Given the description of an element on the screen output the (x, y) to click on. 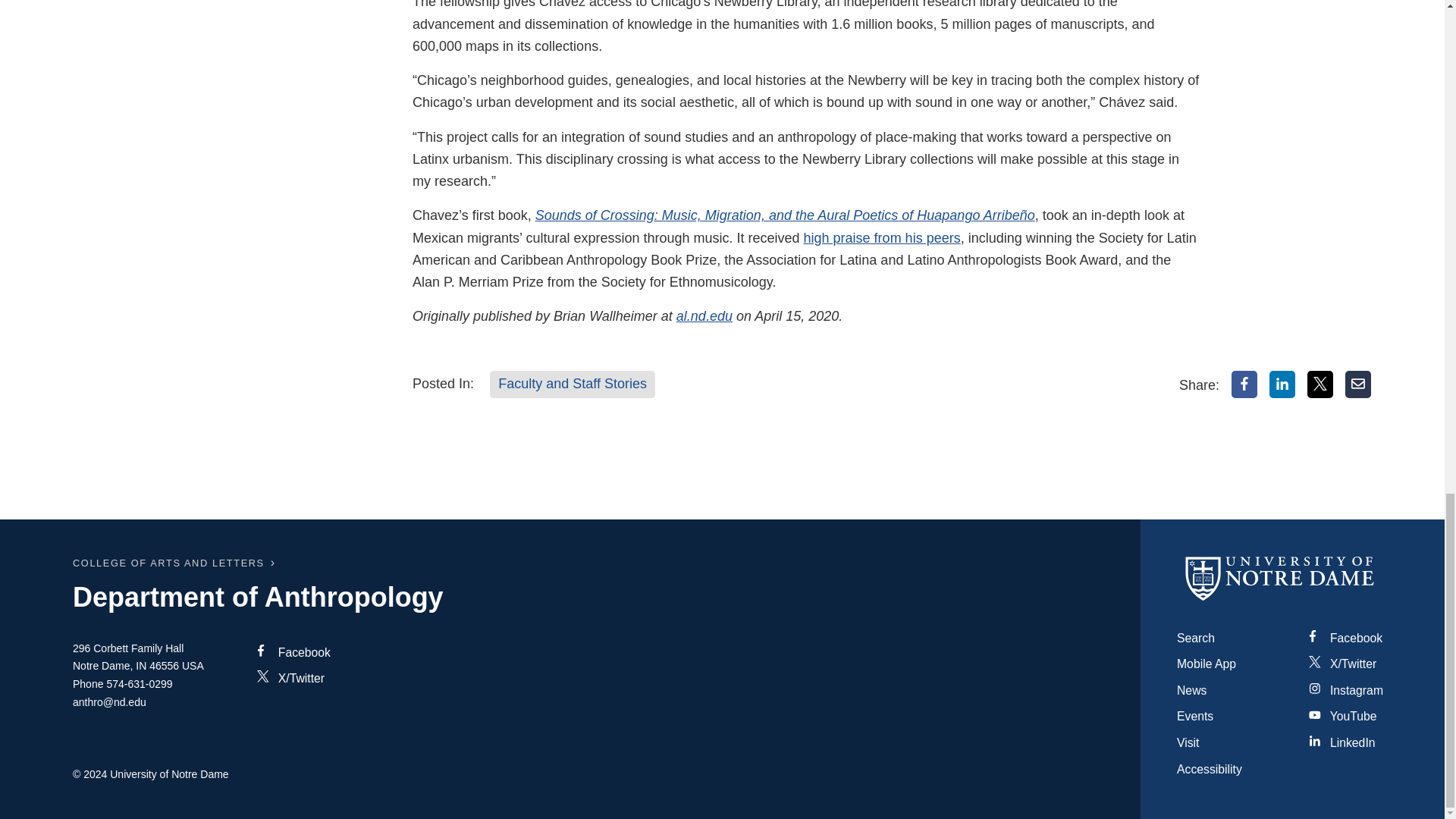
Facebook (1244, 384)
Email (1358, 384)
LinkedIn (1282, 384)
